Given the description of an element on the screen output the (x, y) to click on. 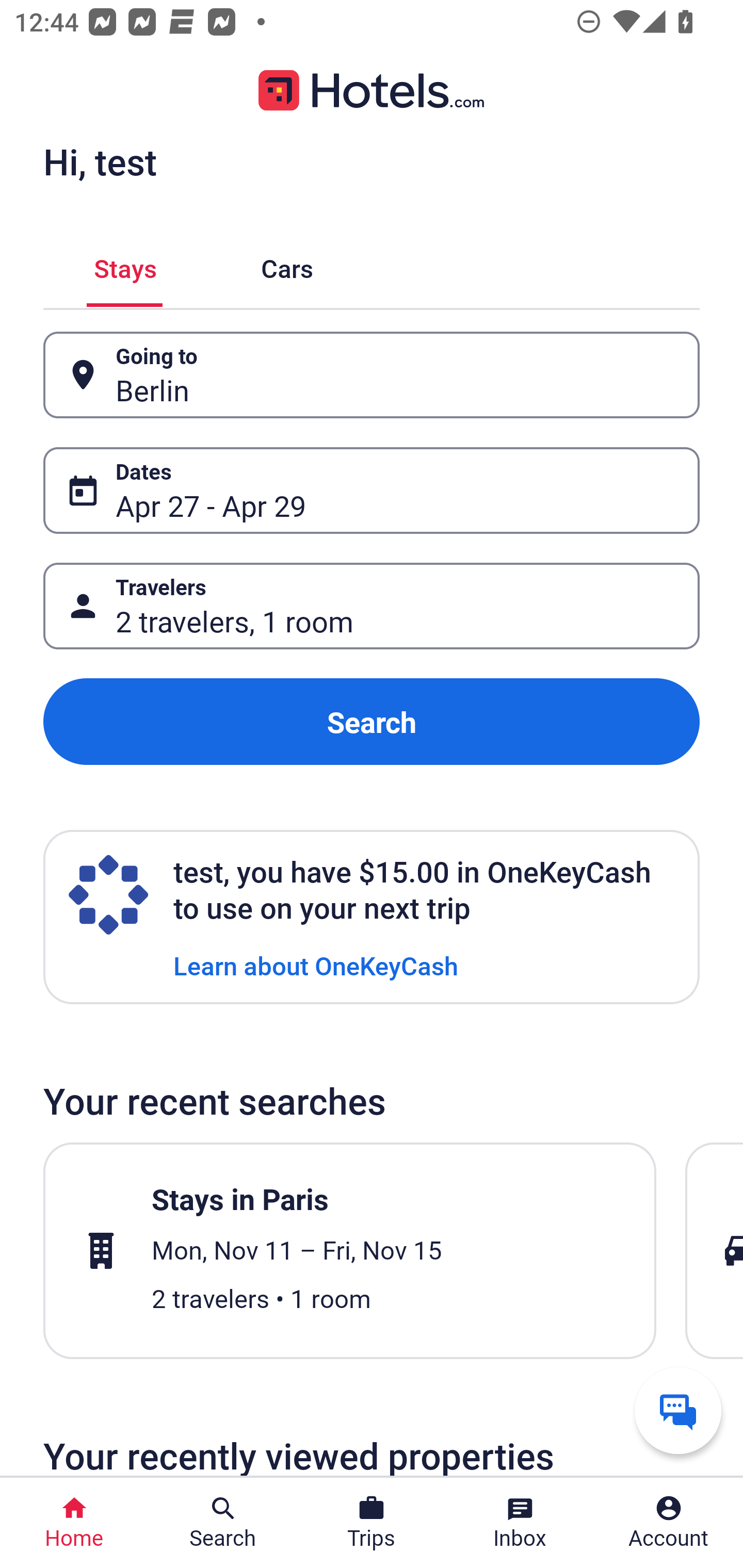
Hi, test (99, 161)
Cars (286, 265)
Going to Button Berlin (371, 375)
Dates Button Apr 27 - Apr 29 (371, 489)
Travelers Button 2 travelers, 1 room (371, 605)
Search (371, 721)
Learn about OneKeyCash Learn about OneKeyCash Link (315, 964)
Get help from a virtual agent (677, 1410)
Search Search Button (222, 1522)
Trips Trips Button (371, 1522)
Inbox Inbox Button (519, 1522)
Account Profile. Button (668, 1522)
